Given the description of an element on the screen output the (x, y) to click on. 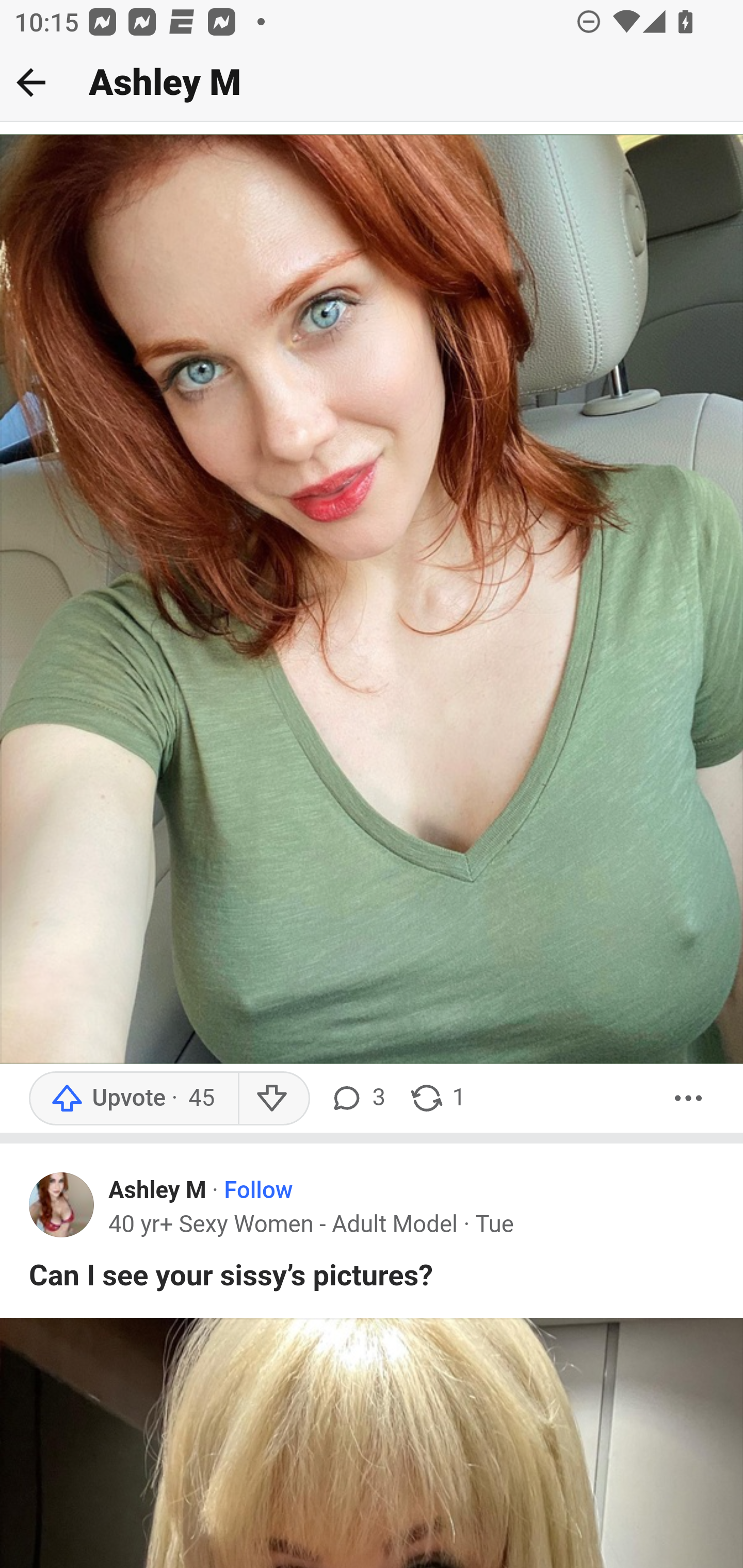
Back Ashley M (371, 82)
Back (30, 82)
Upvote (133, 1097)
Downvote (273, 1097)
3 comments (357, 1097)
1 share (436, 1097)
More (688, 1097)
Profile photo for Ashley M (61, 1203)
Ashley M (157, 1191)
Follow (258, 1191)
Tue (494, 1224)
